Given the description of an element on the screen output the (x, y) to click on. 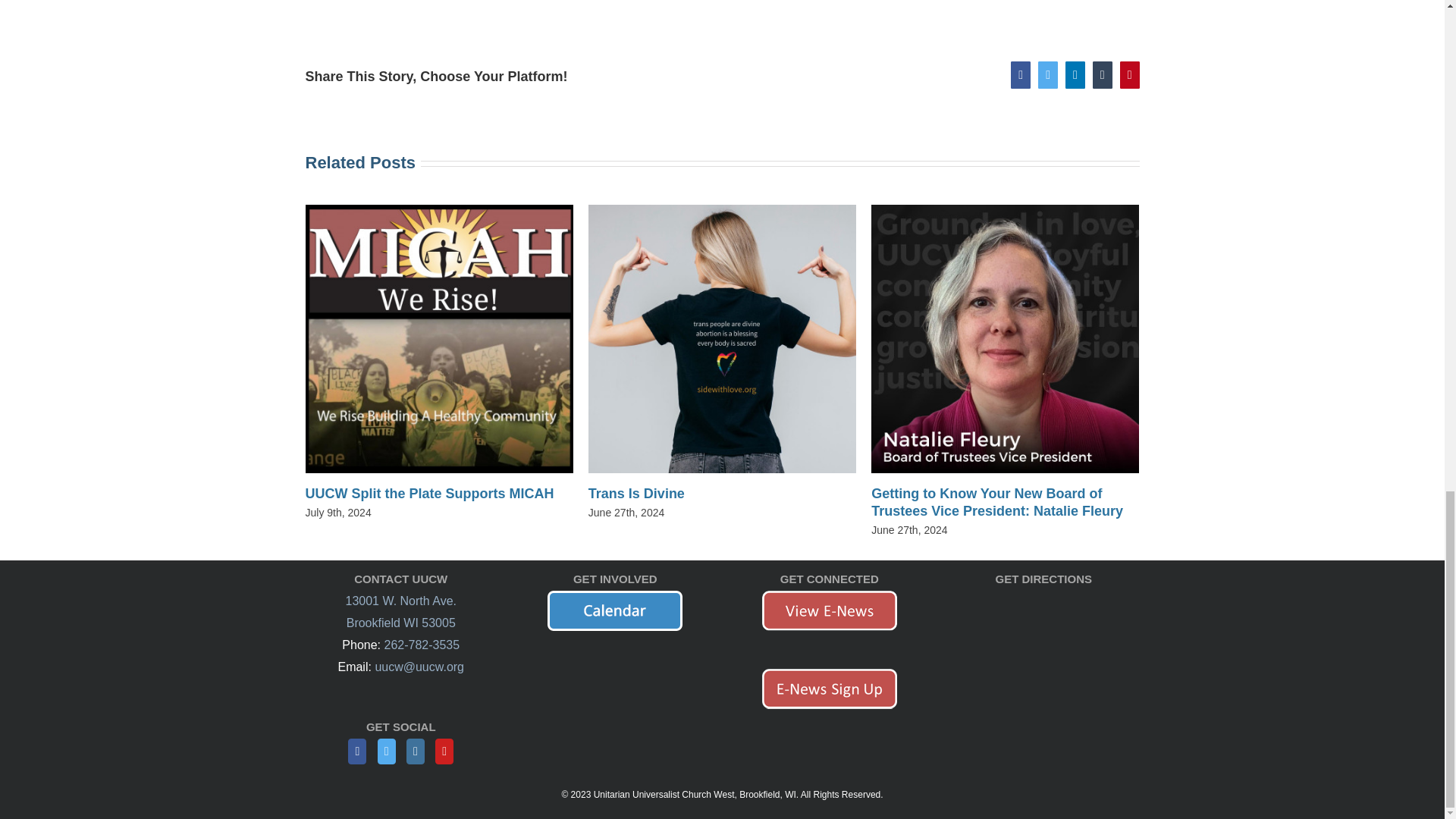
Trans Is Divine (636, 493)
UUCW Split the Plate Supports MICAH (428, 493)
